Given the description of an element on the screen output the (x, y) to click on. 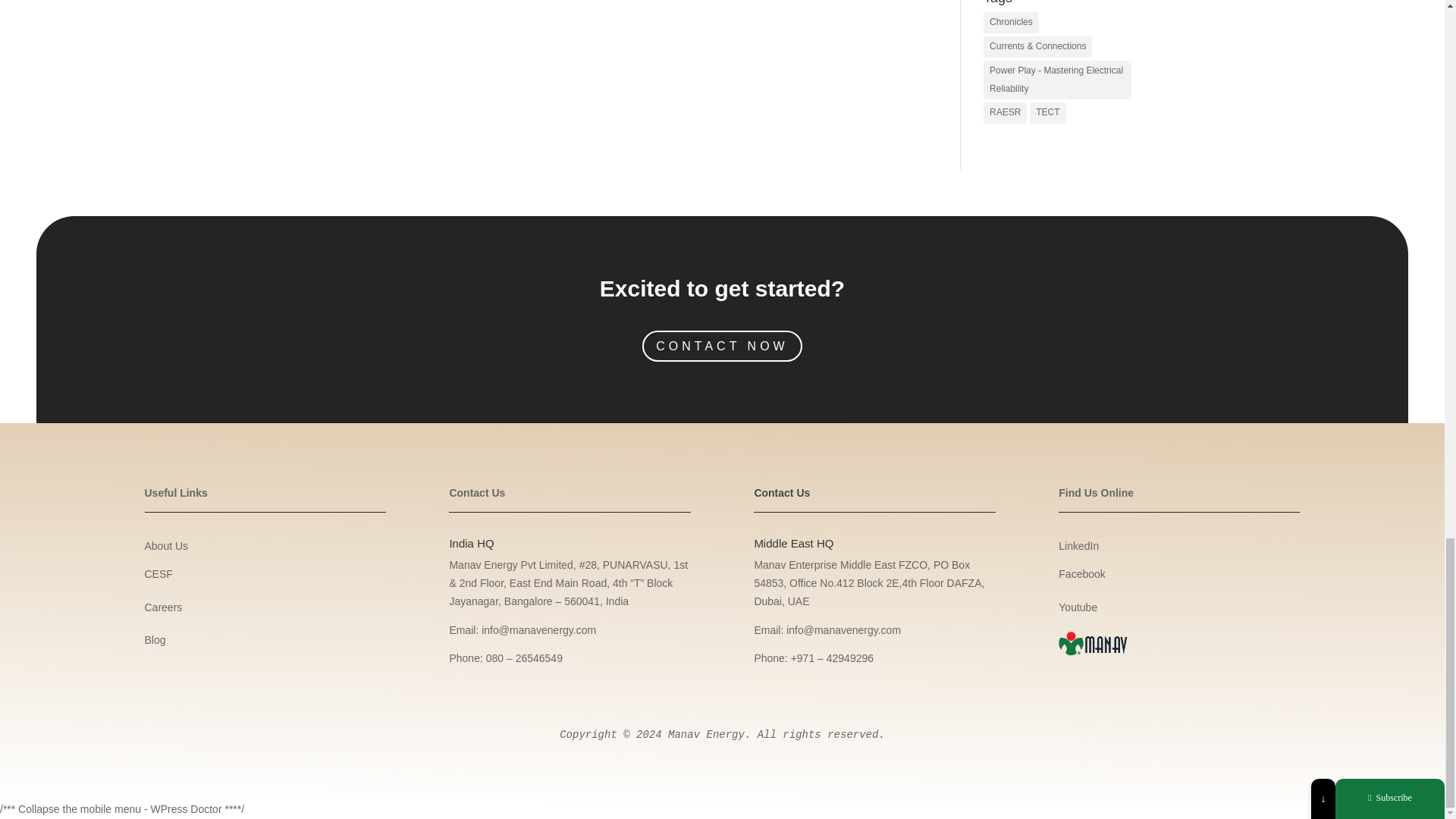
weblogob (1092, 645)
